Given the description of an element on the screen output the (x, y) to click on. 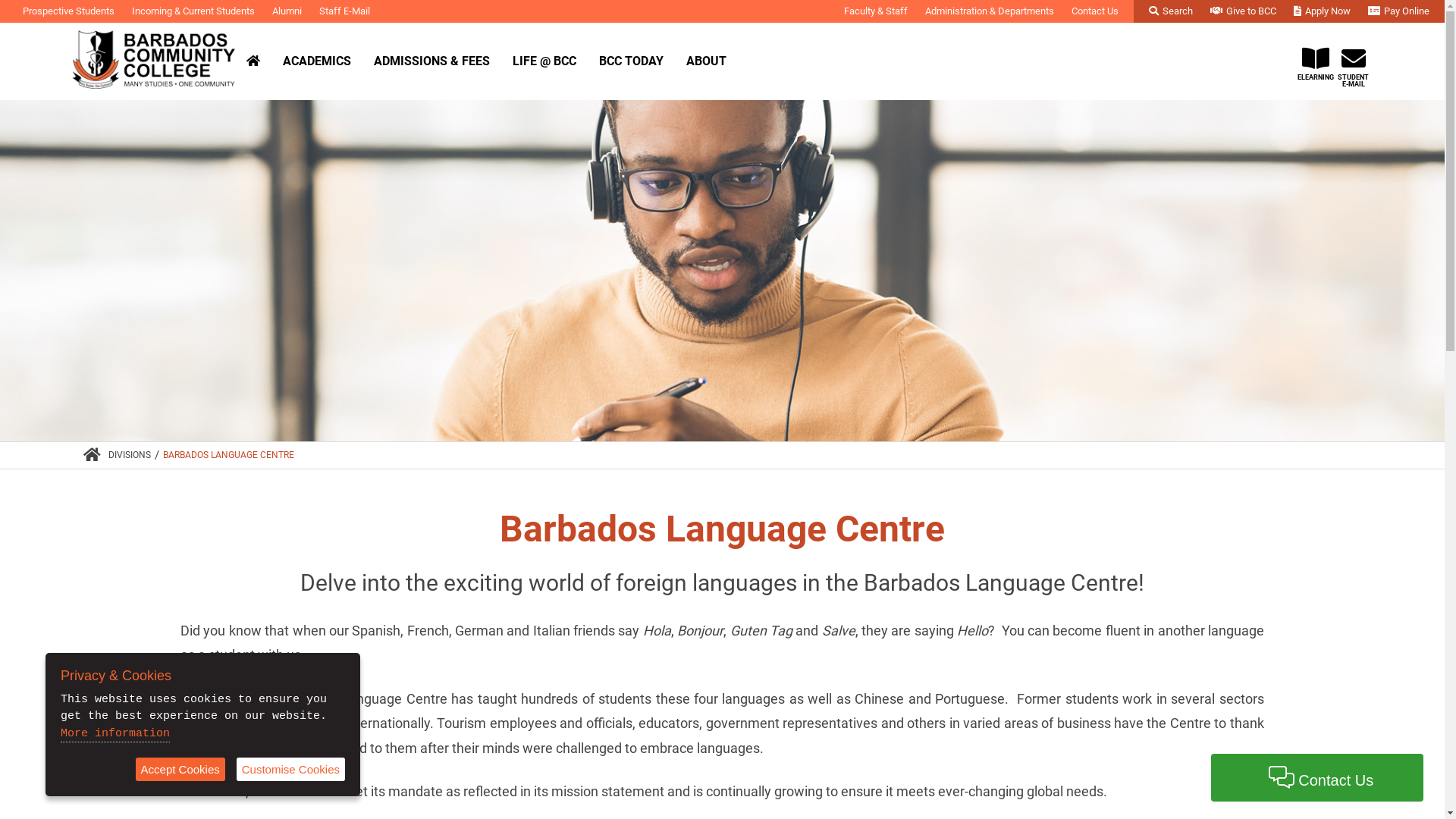
Contact Us Element type: text (1094, 10)
More information Element type: text (114, 733)
ELEARNING Element type: text (1315, 55)
Pay Online Element type: text (1398, 10)
ACADEMICS Element type: text (316, 61)
Give to BCC Element type: text (1243, 10)
ABOUT Element type: text (705, 61)
Incoming & Current Students Element type: text (192, 10)
LIFE @ BCC Element type: text (544, 61)
Contact Us Element type: text (1317, 777)
Faculty & Staff Element type: text (875, 10)
Prospective Students Element type: text (68, 10)
Accept Cookies Element type: text (180, 769)
BARBADOS LANGUAGE CENTRE Element type: text (228, 455)
DIVISIONS Element type: text (129, 455)
Search Element type: text (1170, 10)
BCC TODAY Element type: text (630, 61)
Administration & Departments Element type: text (989, 10)
Customise Cookies Element type: text (290, 769)
Alumni Element type: text (286, 10)
Apply Now Element type: text (1321, 10)
STUDENT E-MAIL Element type: text (1353, 58)
Staff E-Mail Element type: text (344, 10)
ADMISSIONS & FEES Element type: text (431, 61)
